Given the description of an element on the screen output the (x, y) to click on. 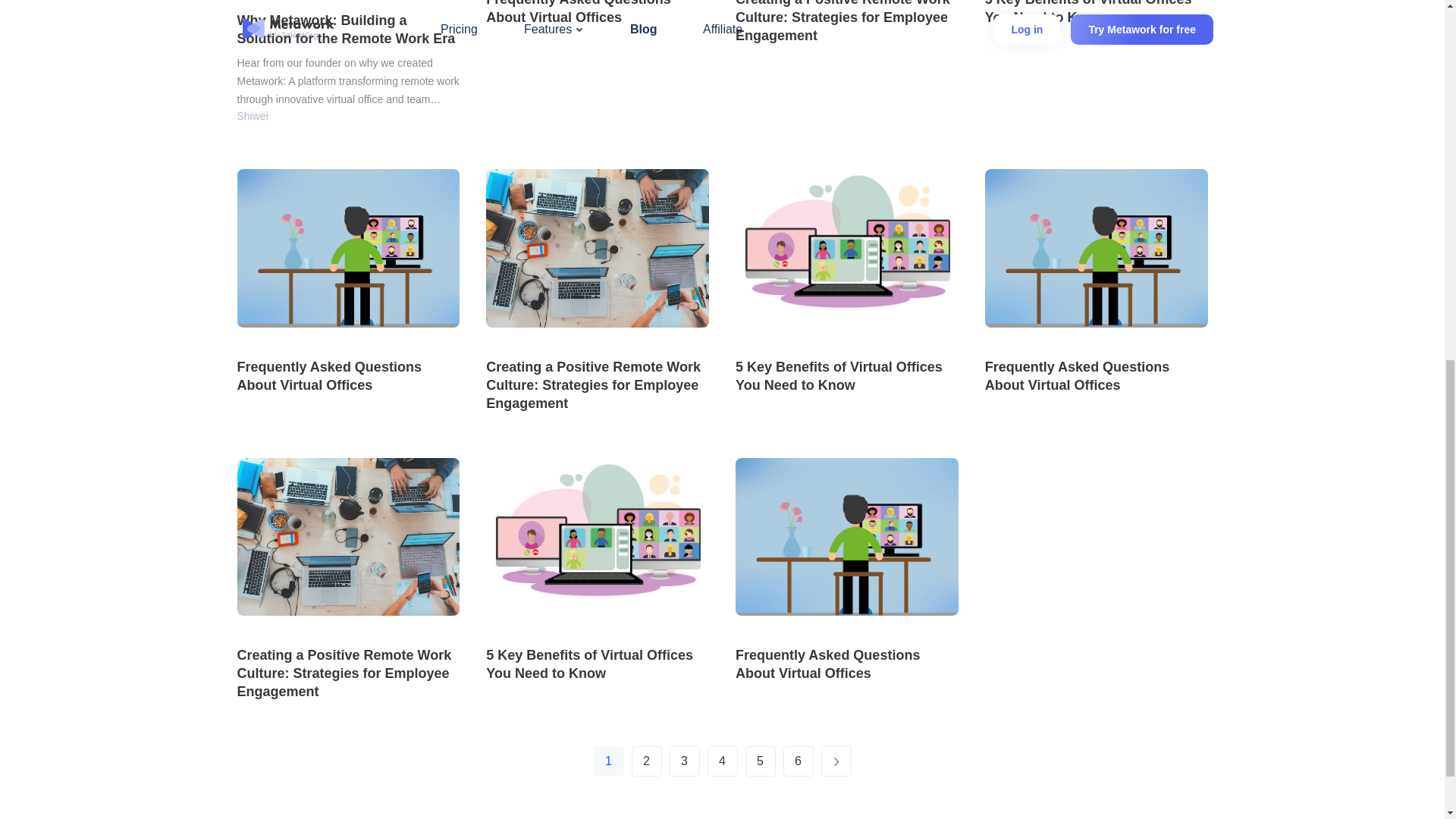
Frequently Asked Questions About Virtual Offices (846, 664)
5 Key Benefits of Virtual Offices You Need to Know (597, 664)
5 Key Benefits of Virtual Offices You Need to Know (846, 375)
3 (683, 761)
5 Key Benefits of Virtual Offices You Need to Know (1096, 13)
Frequently Asked Questions About Virtual Offices (597, 13)
Frequently Asked Questions About Virtual Offices (1096, 375)
